Given the description of an element on the screen output the (x, y) to click on. 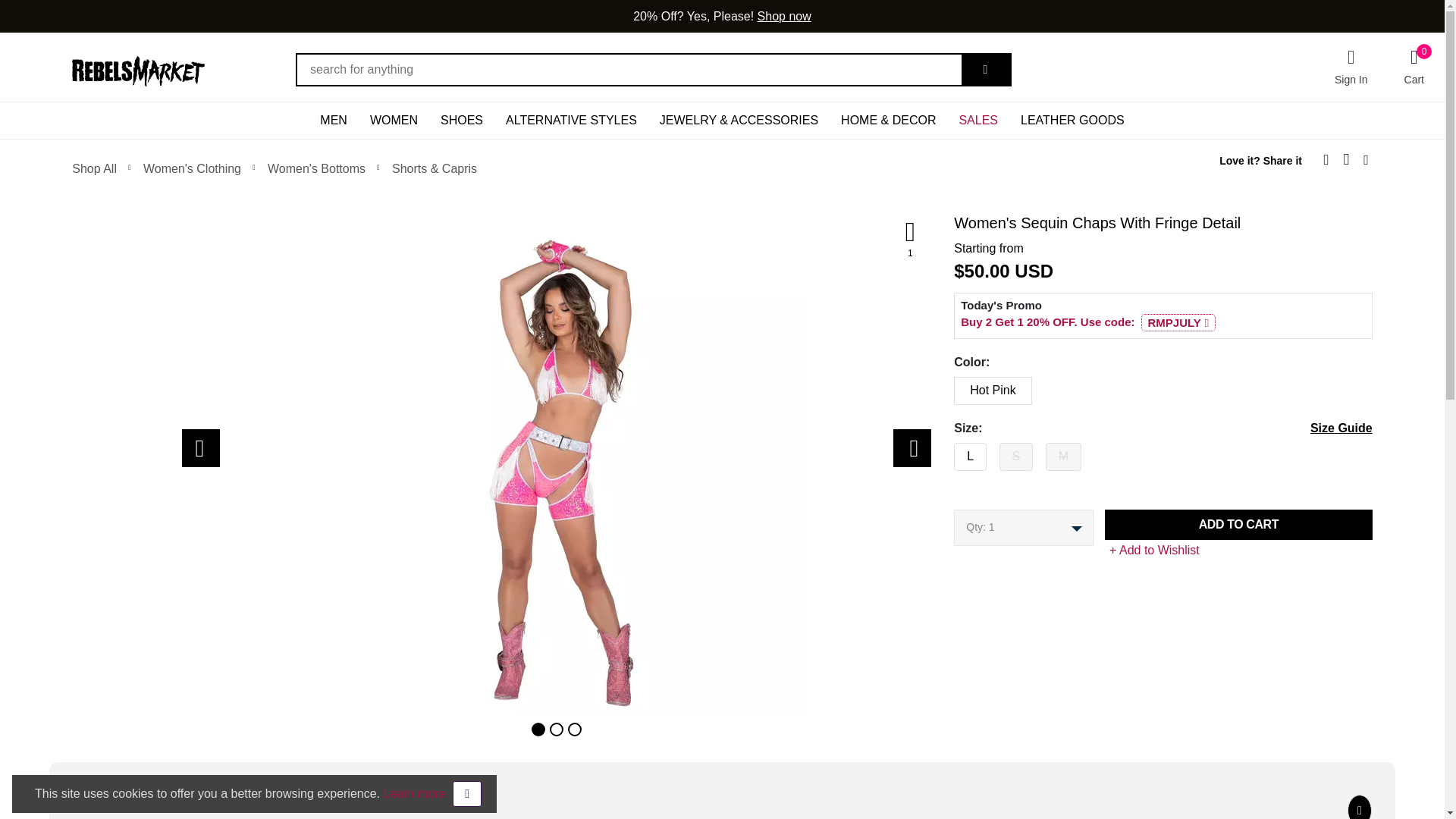
Hot Pink (949, 386)
WOMEN (1414, 64)
MEN (393, 119)
50.00 (333, 119)
L (986, 271)
Sign In (949, 453)
USD (1351, 66)
